Given the description of an element on the screen output the (x, y) to click on. 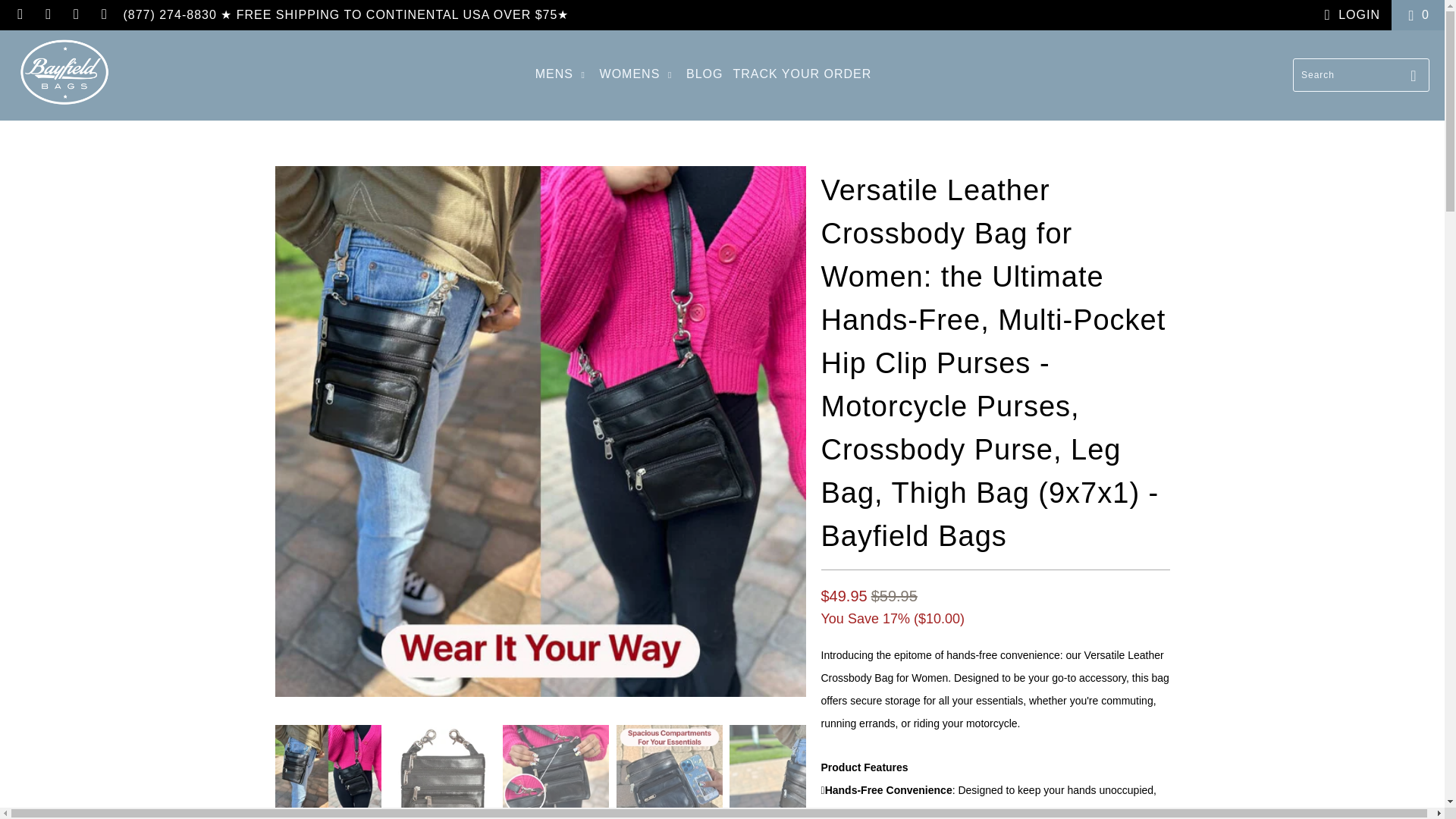
Email Bayfield Bags  (104, 14)
0 (1417, 15)
Bayfield Bags  on Pinterest (47, 14)
LOGIN (1348, 15)
My Account  (1348, 15)
Bayfield Bags  on Facebook (19, 14)
Bayfield Bags  on Instagram (75, 14)
Bayfield Bags  (63, 75)
